Given the description of an element on the screen output the (x, y) to click on. 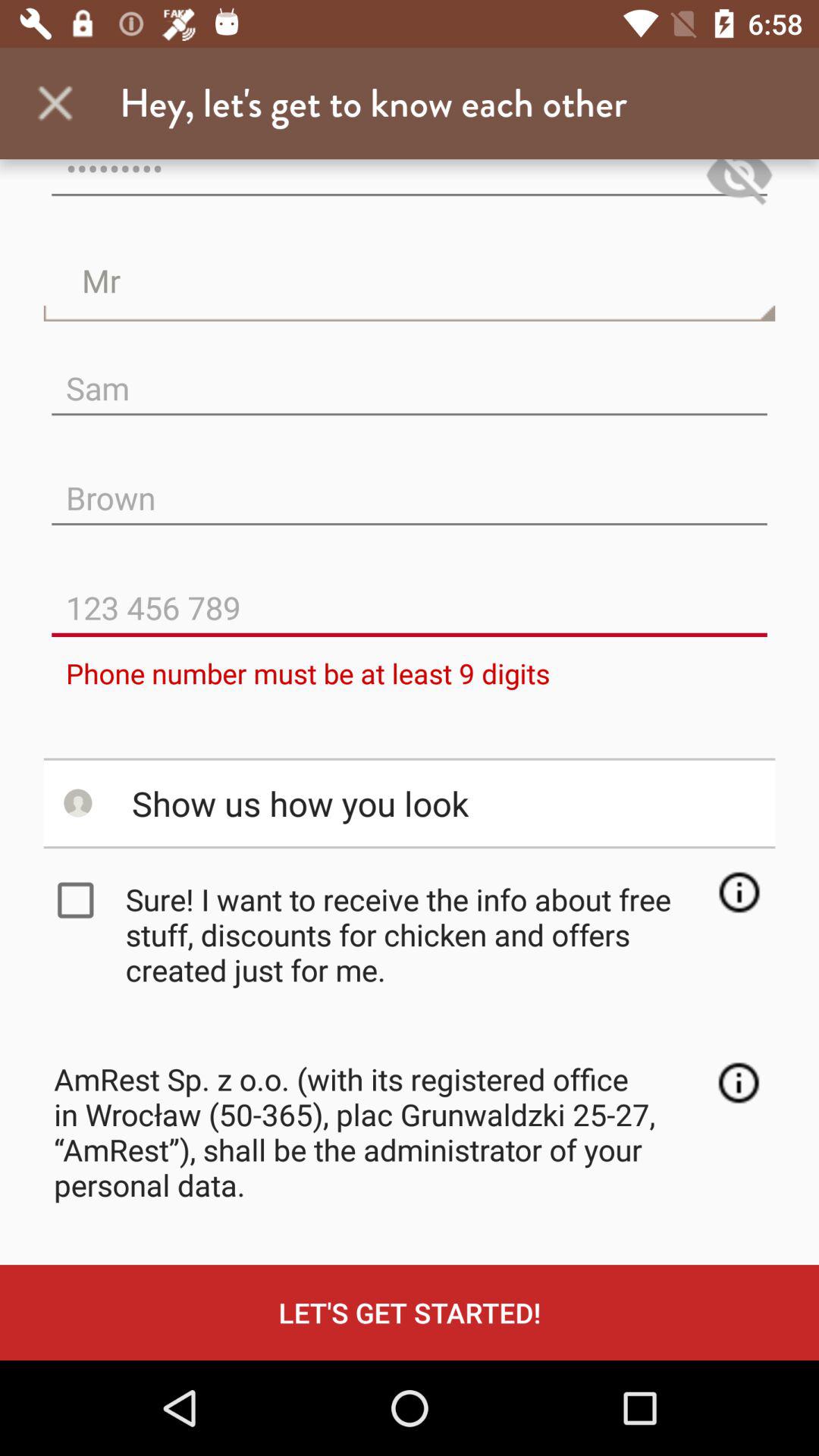
press icon below the brown (409, 595)
